Given the description of an element on the screen output the (x, y) to click on. 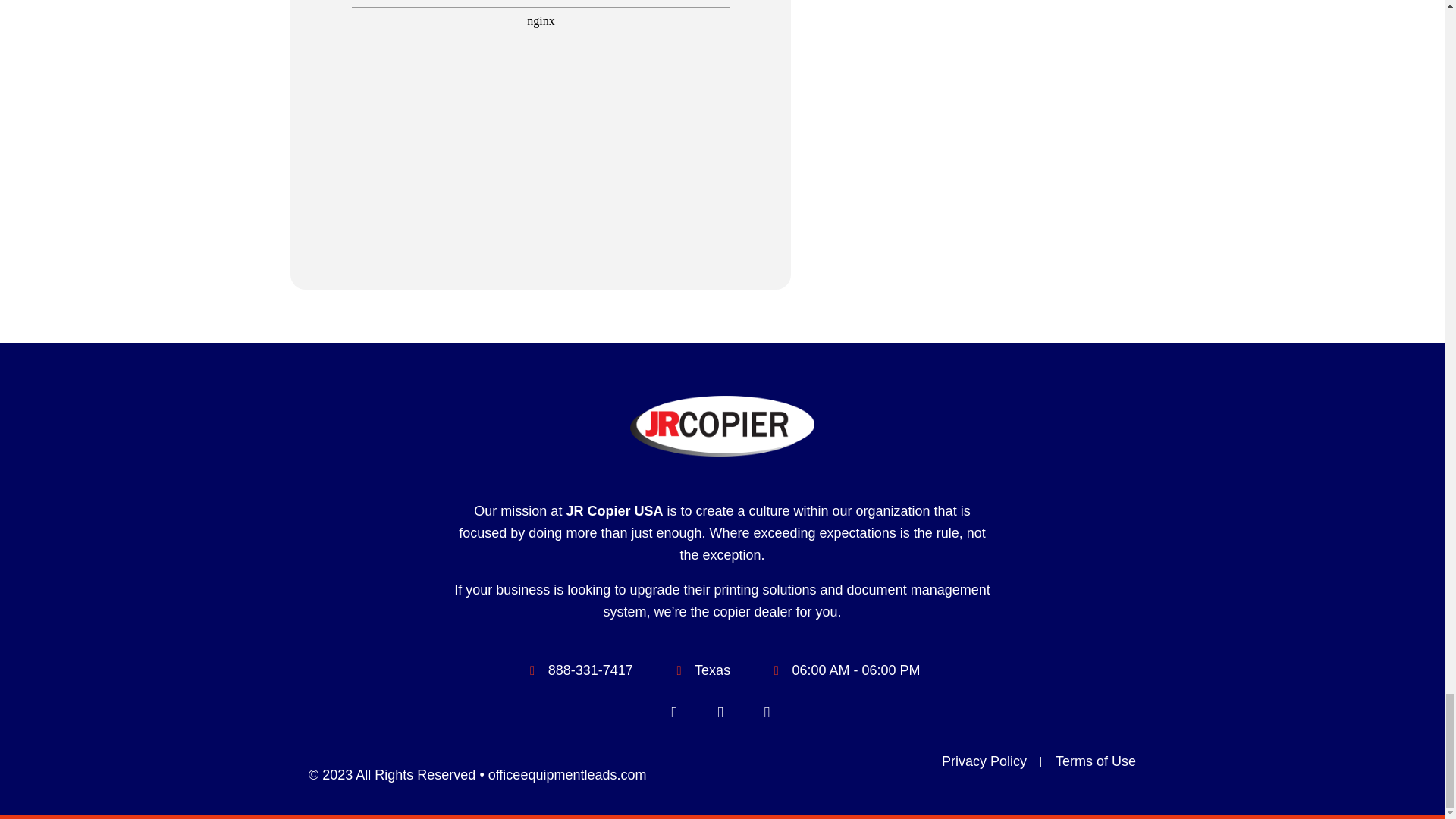
Quote Form (541, 35)
Texas (983, 144)
